Given the description of an element on the screen output the (x, y) to click on. 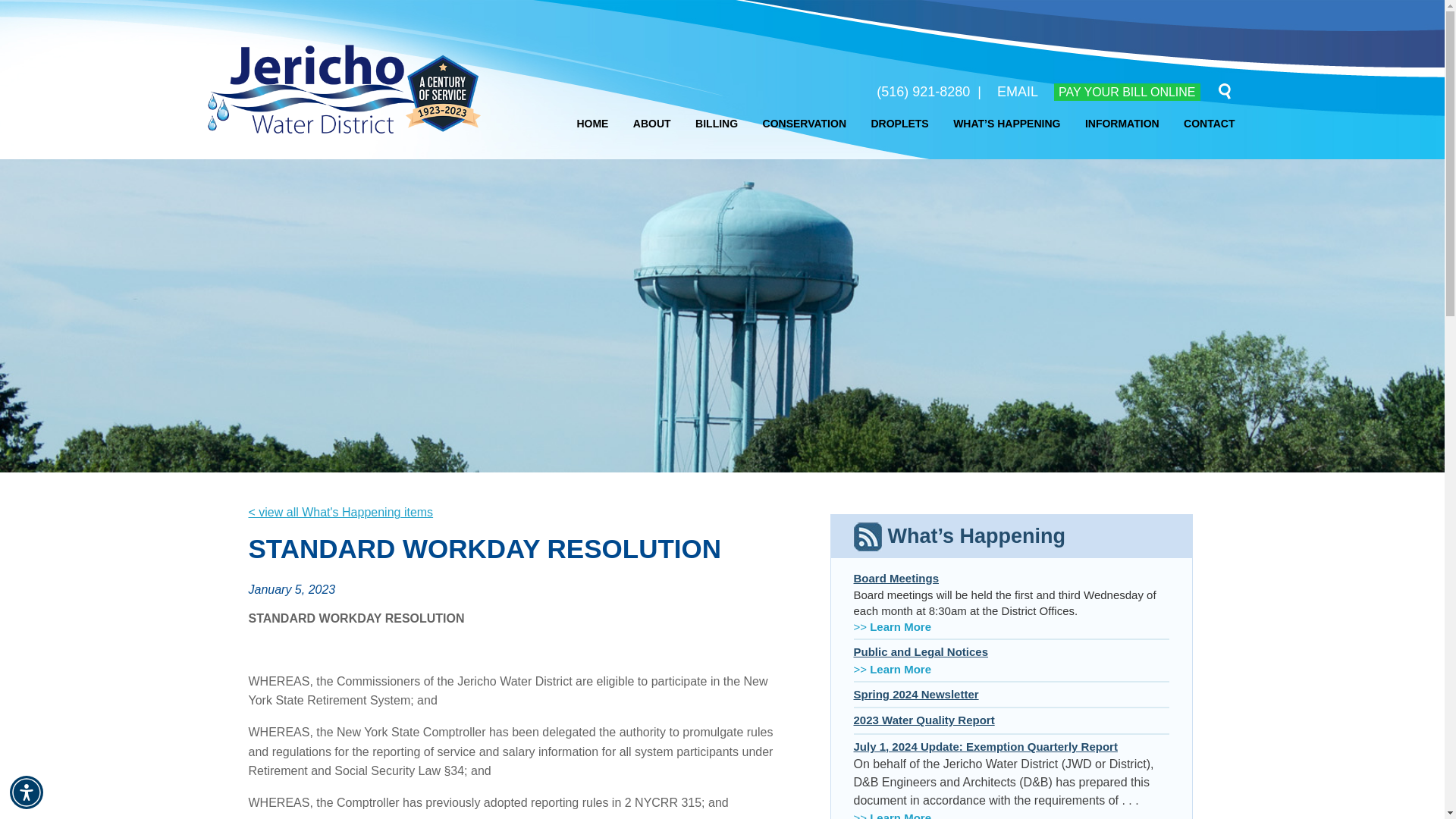
ABOUT (652, 123)
HOME (592, 123)
INFORMATION (1121, 123)
BILLING (716, 123)
Accessibility Menu (26, 792)
CONSERVATION (803, 123)
EMAIL (1017, 91)
DROPLETS (899, 123)
PAY YOUR BILL ONLINE (1126, 91)
